Given the description of an element on the screen output the (x, y) to click on. 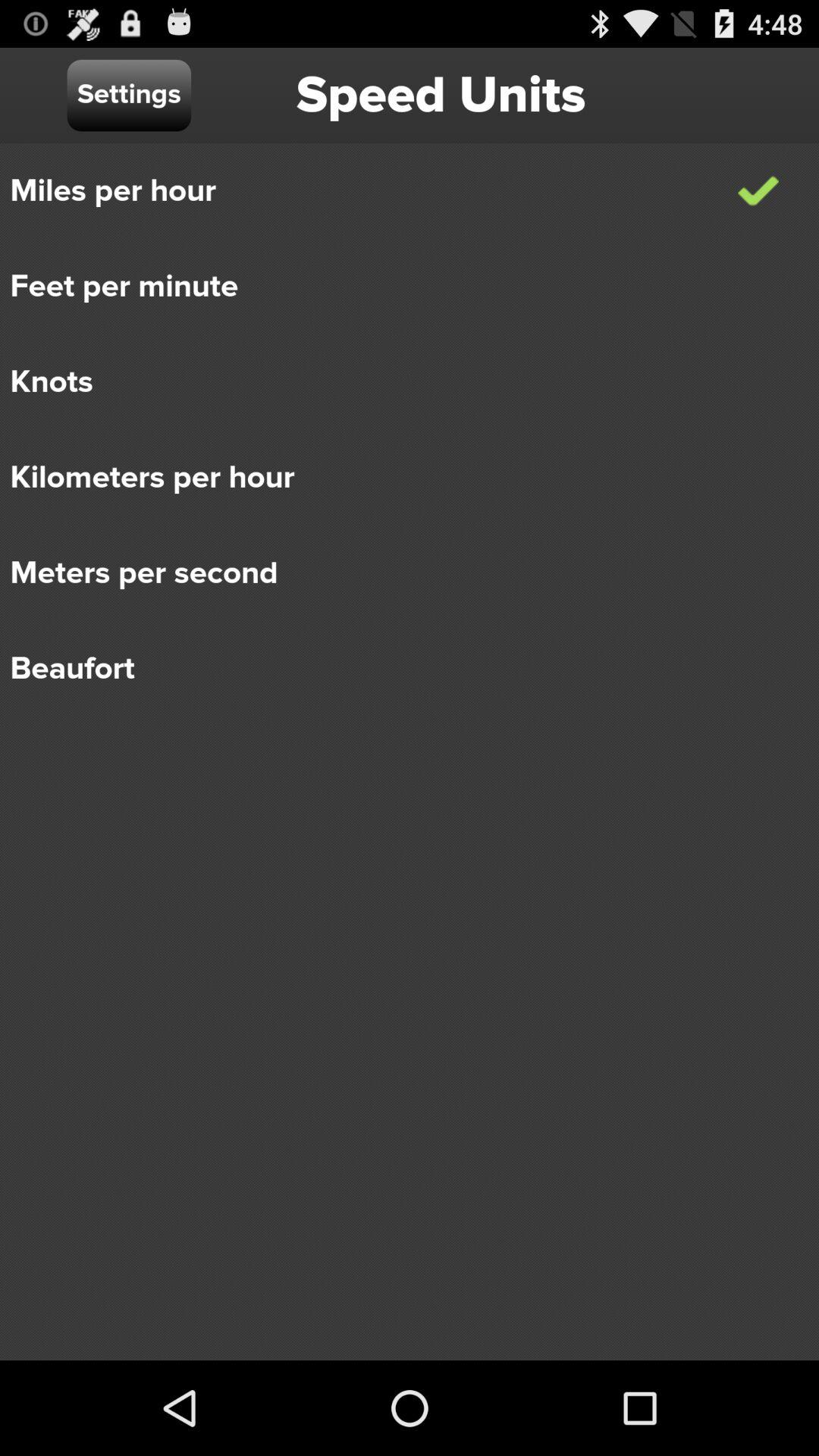
turn on the item above miles per hour icon (129, 95)
